Given the description of an element on the screen output the (x, y) to click on. 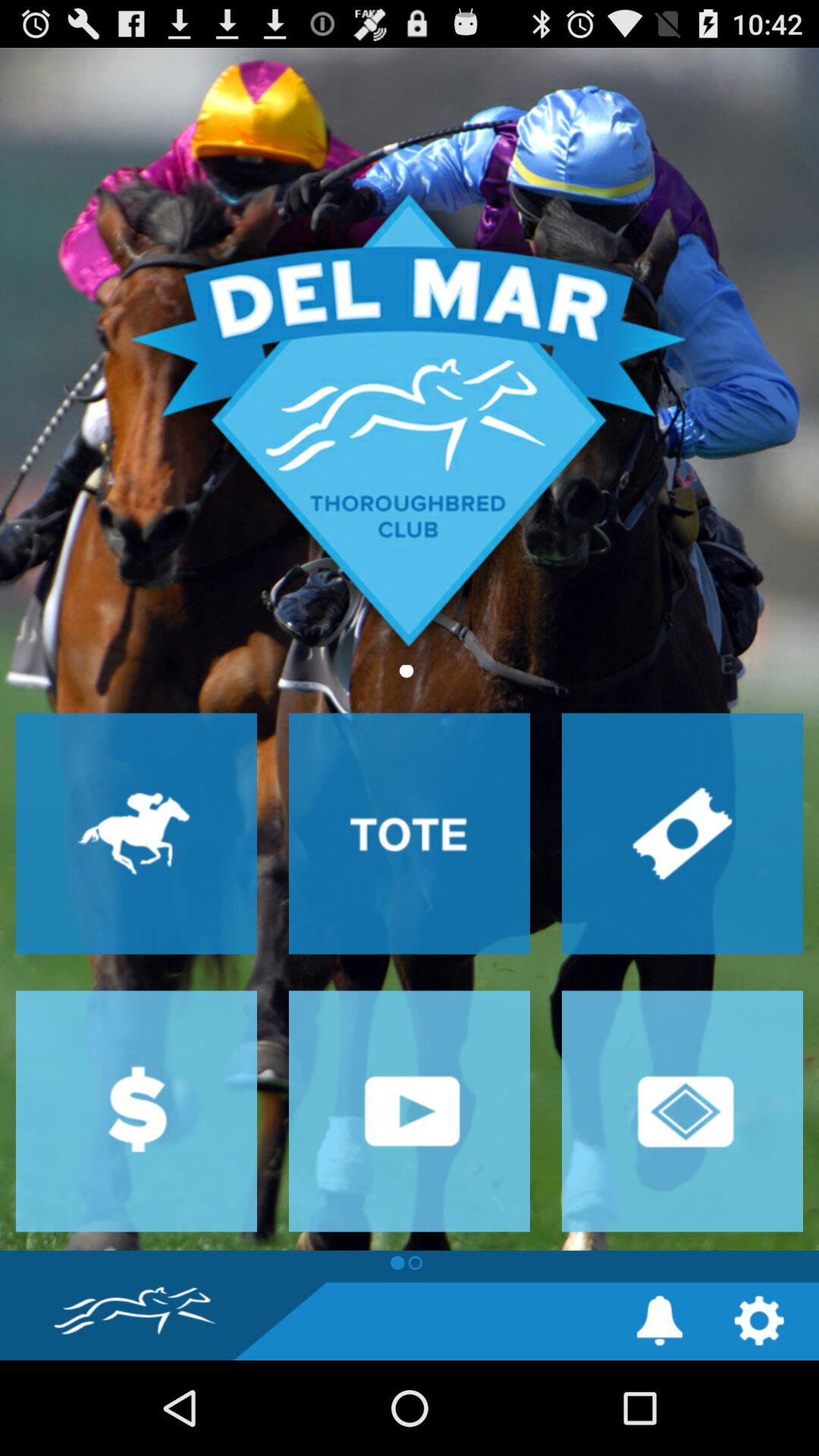
view tickets (682, 833)
